Given the description of an element on the screen output the (x, y) to click on. 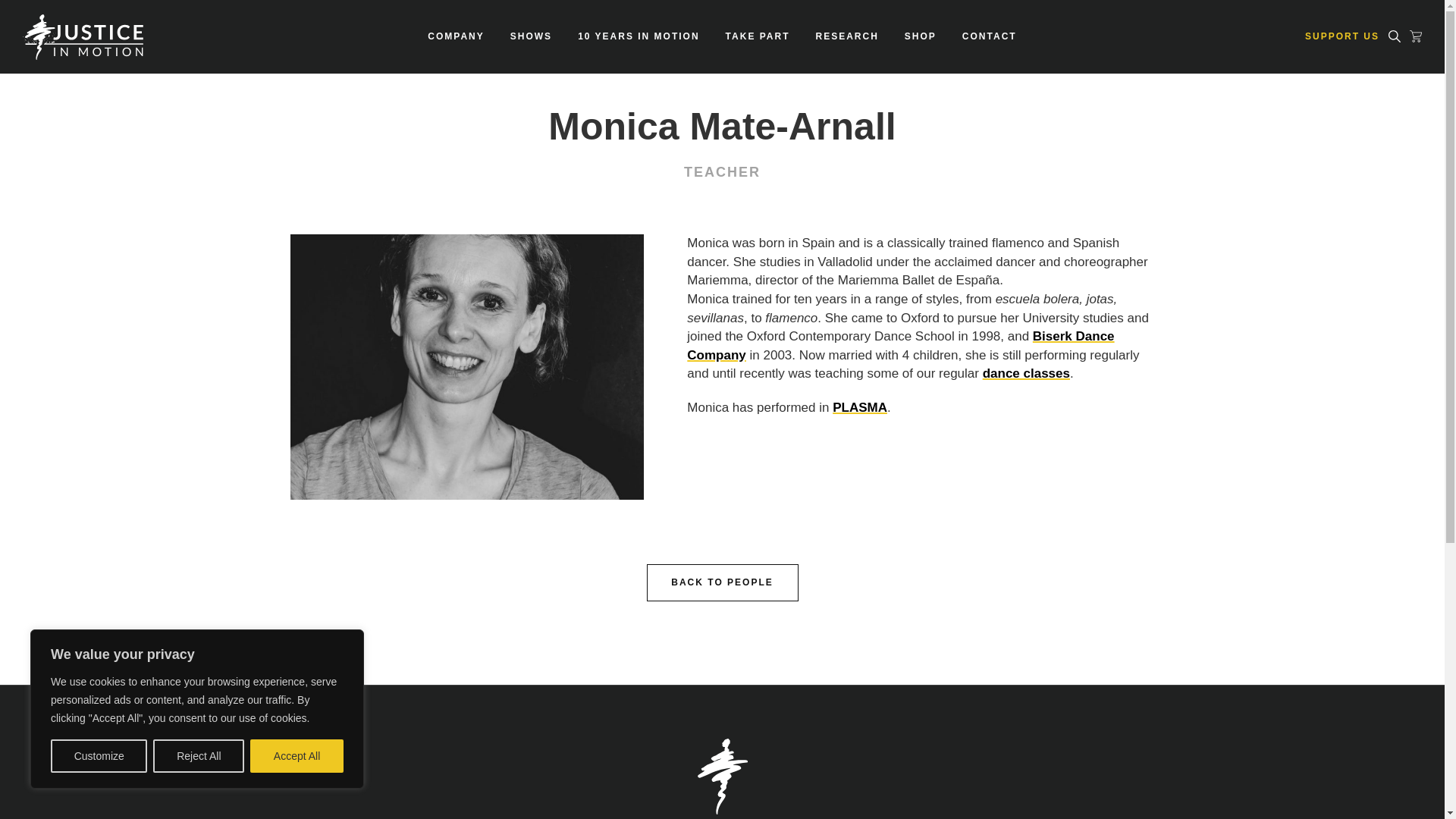
SHOWS (530, 36)
RESEARCH (847, 36)
Accept All (296, 756)
TAKE PART (757, 36)
10 YEARS IN MOTION (638, 36)
COMPANY (456, 36)
Customize (98, 756)
Reject All (198, 756)
